Given the description of an element on the screen output the (x, y) to click on. 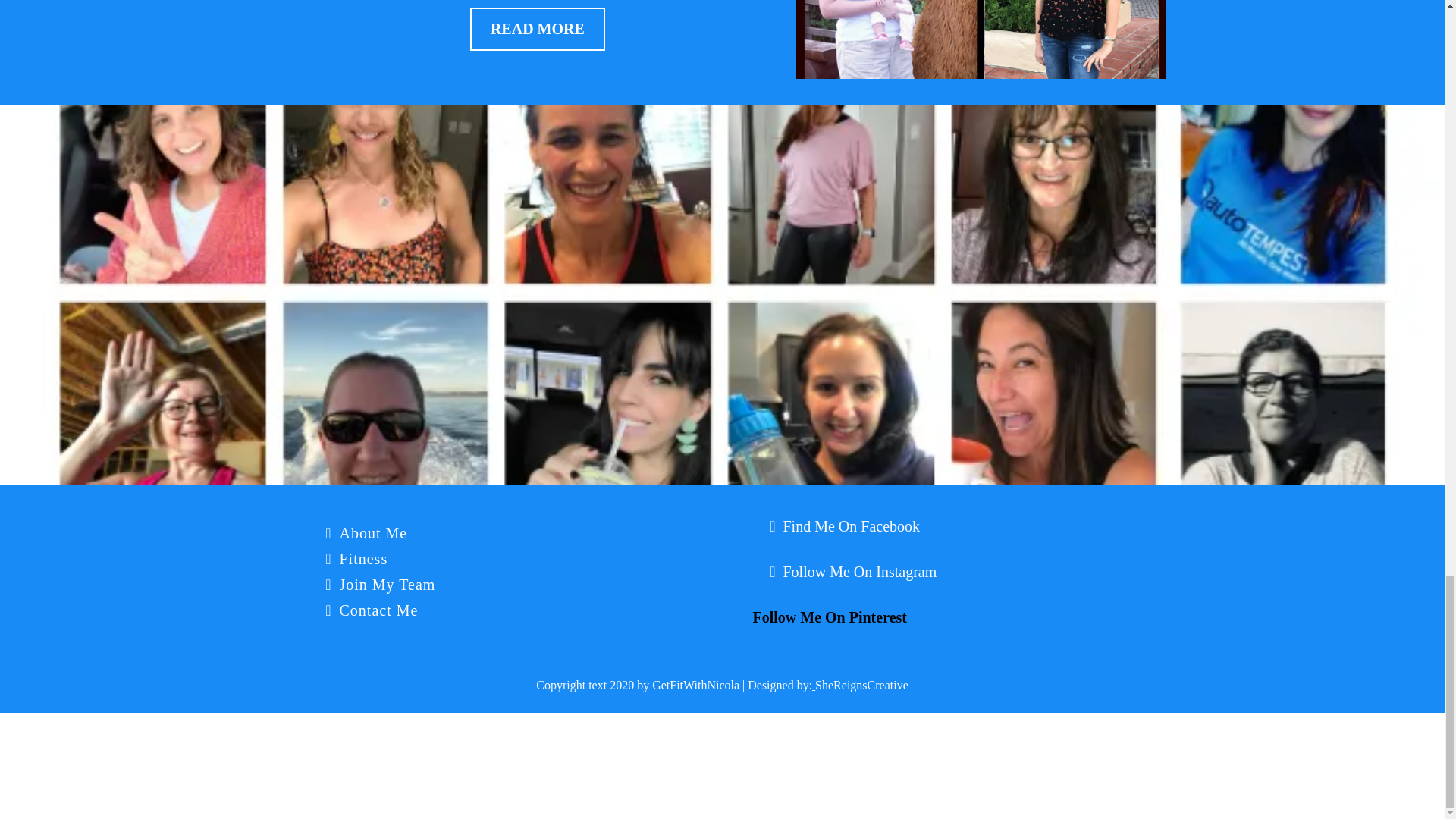
READ MORE (537, 28)
SheReignsCreative (861, 684)
Me On Facebook (865, 525)
Follow Me On Instagram (859, 571)
Find (796, 525)
Follow Me On Pinterest (828, 617)
